Given the description of an element on the screen output the (x, y) to click on. 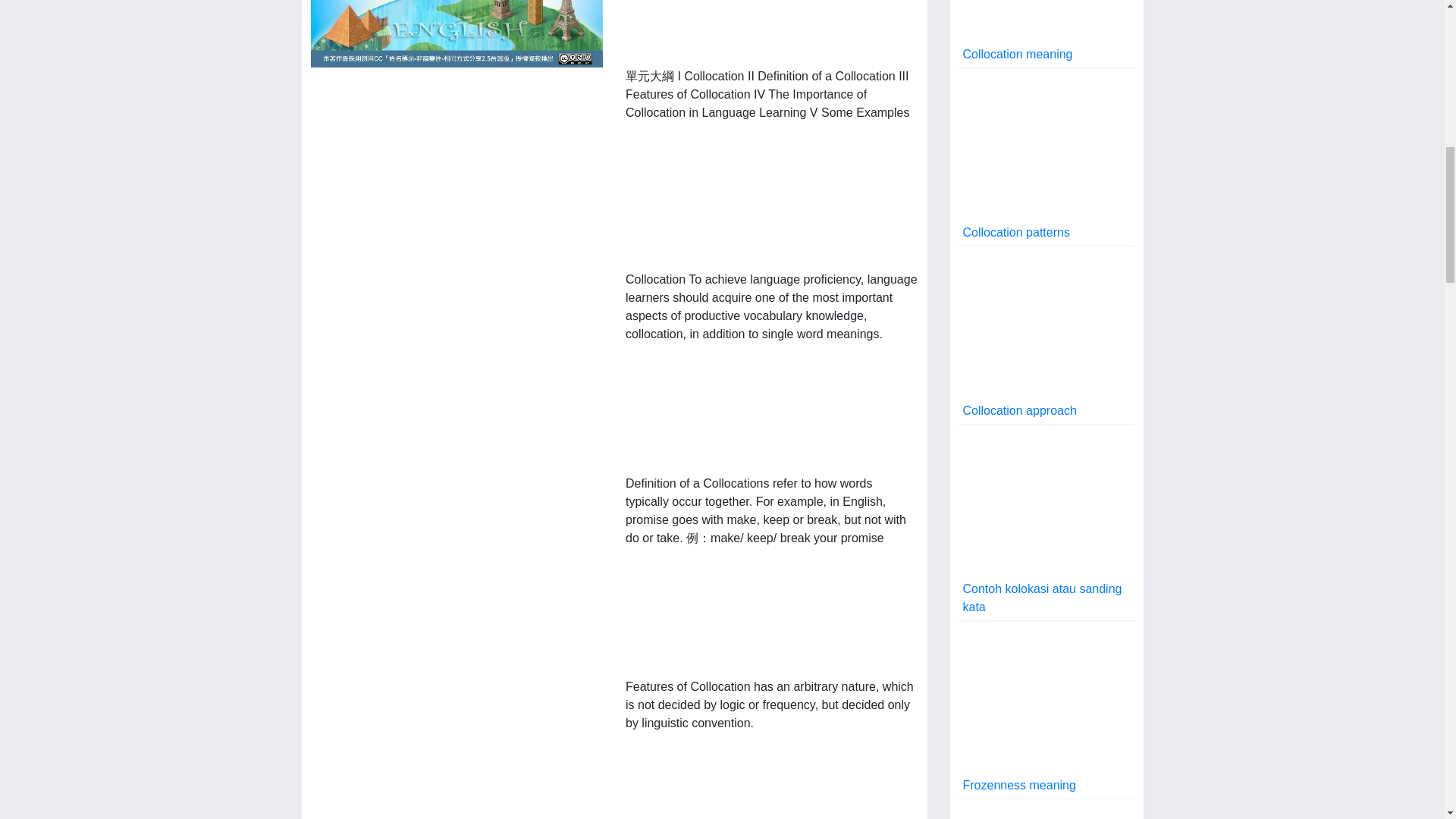
Collocation approach (1046, 335)
Collocation  (456, 33)
Contoh kolokasi atau sanding kata (1046, 522)
Collocation meaning (1046, 33)
Frozenness meaning (1046, 709)
Collocation patterns (1046, 156)
Determination collocation (1046, 809)
